Given the description of an element on the screen output the (x, y) to click on. 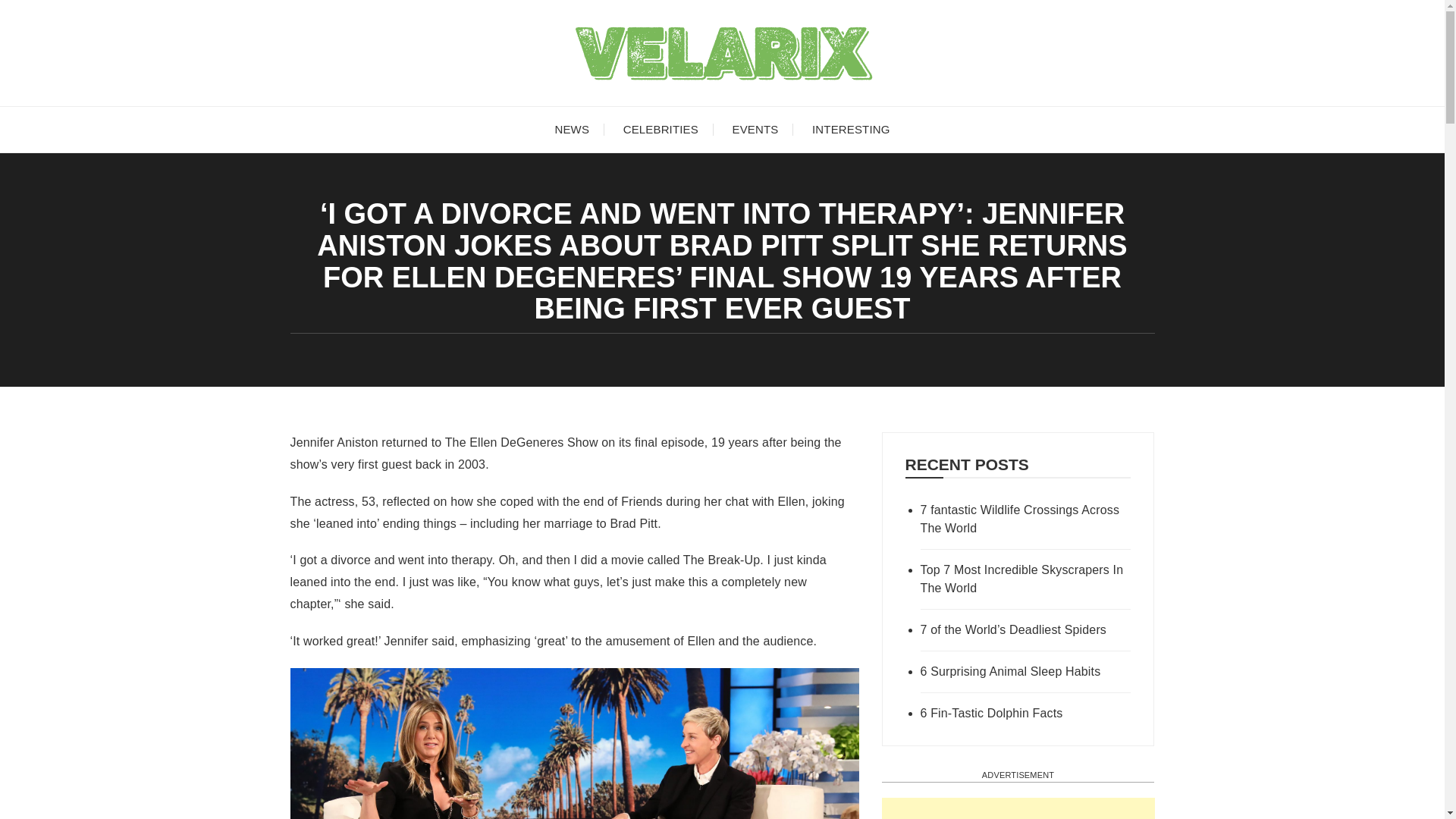
Top 7 Most Incredible Skyscrapers In The World (1025, 579)
6 Surprising Animal Sleep Habits (1025, 671)
6 Fin-Tastic Dolphin Facts (1025, 713)
EVENTS (754, 129)
NEWS (571, 129)
Advertisement (1017, 808)
INTERESTING (850, 129)
7 fantastic Wildlife Crossings Across The World (1025, 519)
CELEBRITIES (660, 129)
